Given the description of an element on the screen output the (x, y) to click on. 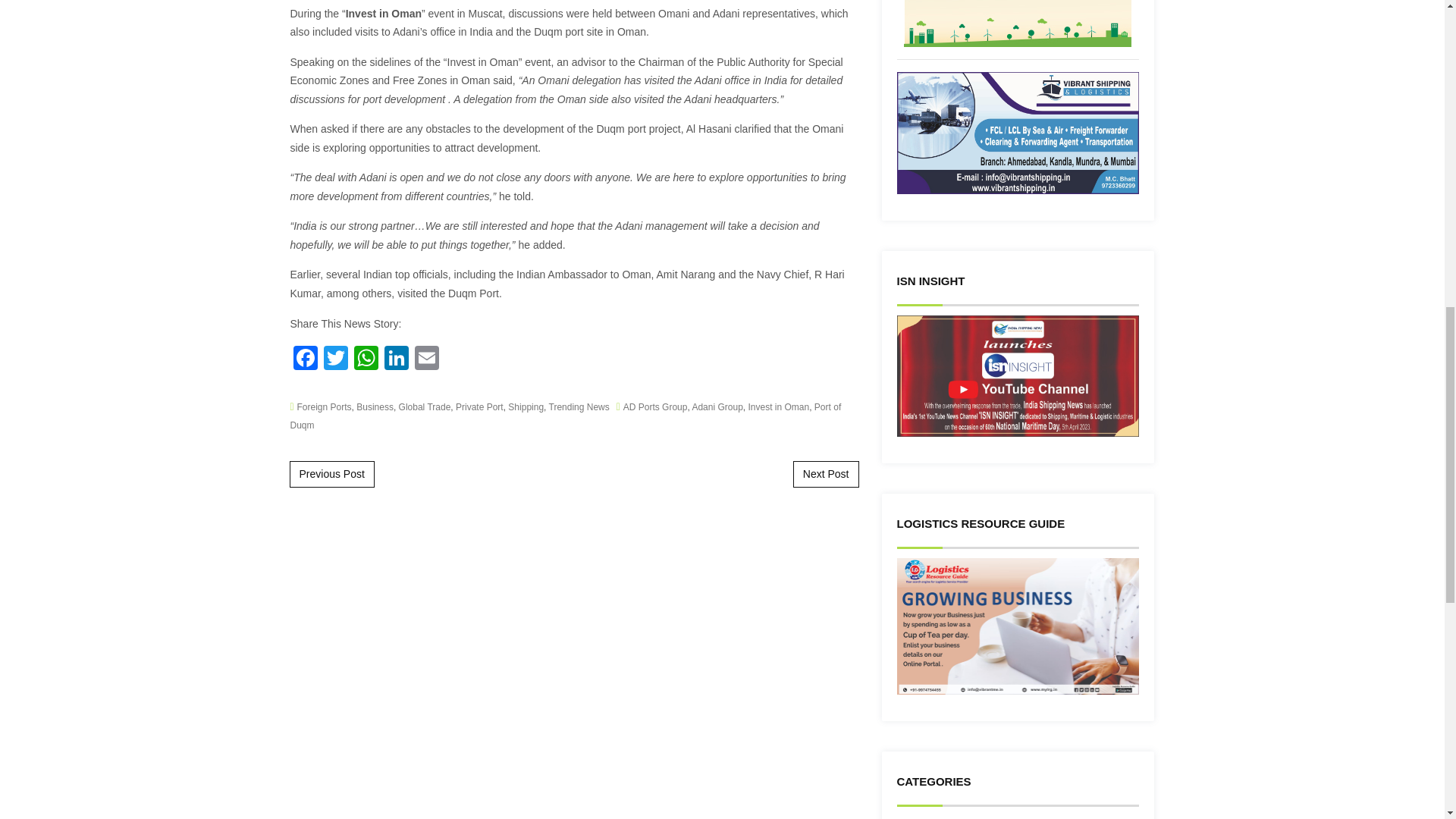
Facebook (304, 359)
Twitter (335, 359)
LinkedIn (395, 359)
Email (425, 359)
WhatsApp (365, 359)
